Given the description of an element on the screen output the (x, y) to click on. 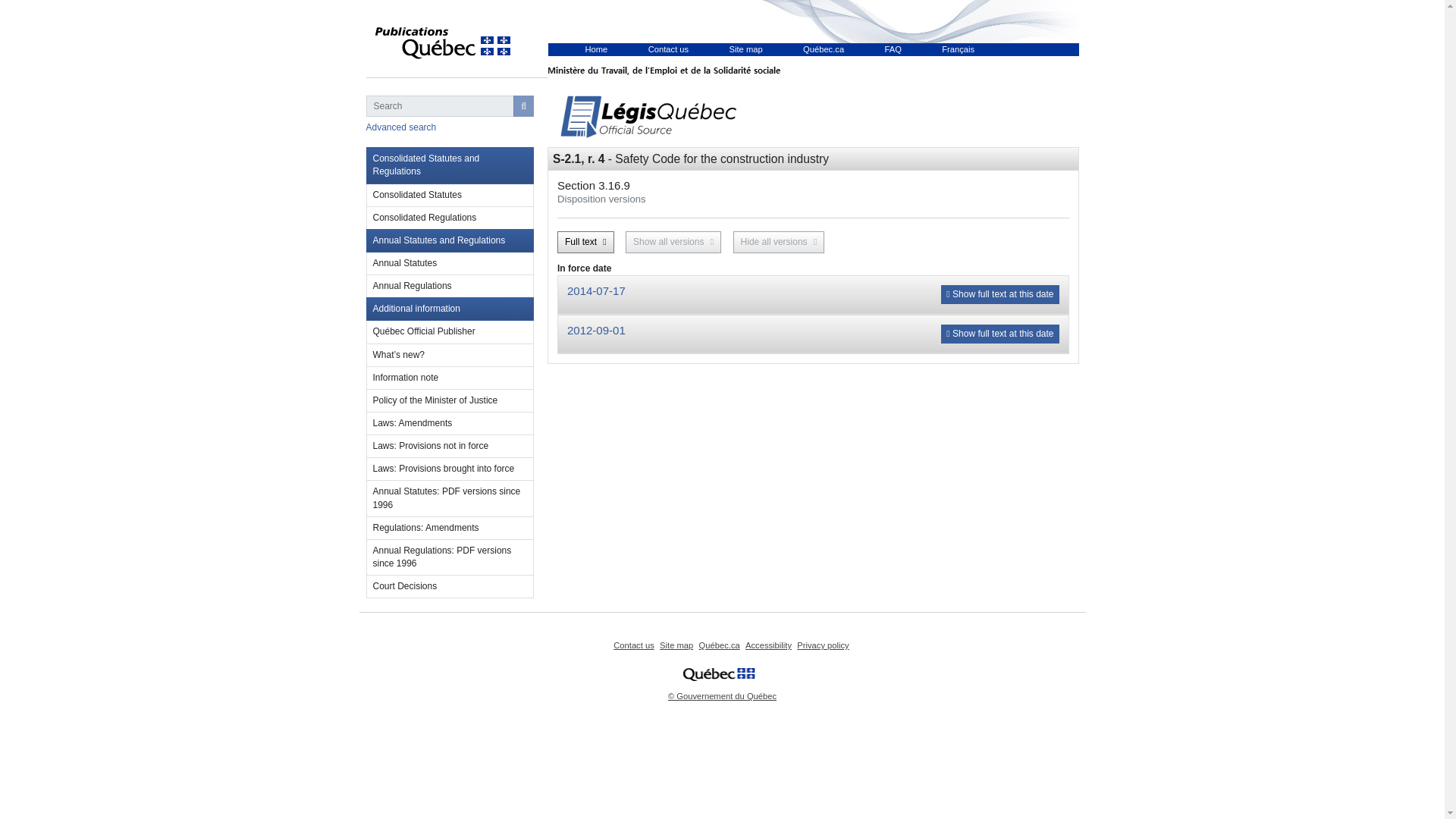
Annual Statutes: PDF versions since 1996 (449, 498)
Advanced search (400, 127)
Policy of the Minister of Justice (449, 400)
Laws: Amendments (449, 423)
Additional information (449, 309)
Hide all versions (779, 241)
Site map (745, 49)
Consolidated Regulations (449, 218)
Laws: Provisions not in force (449, 445)
FAQ (892, 49)
